Given the description of an element on the screen output the (x, y) to click on. 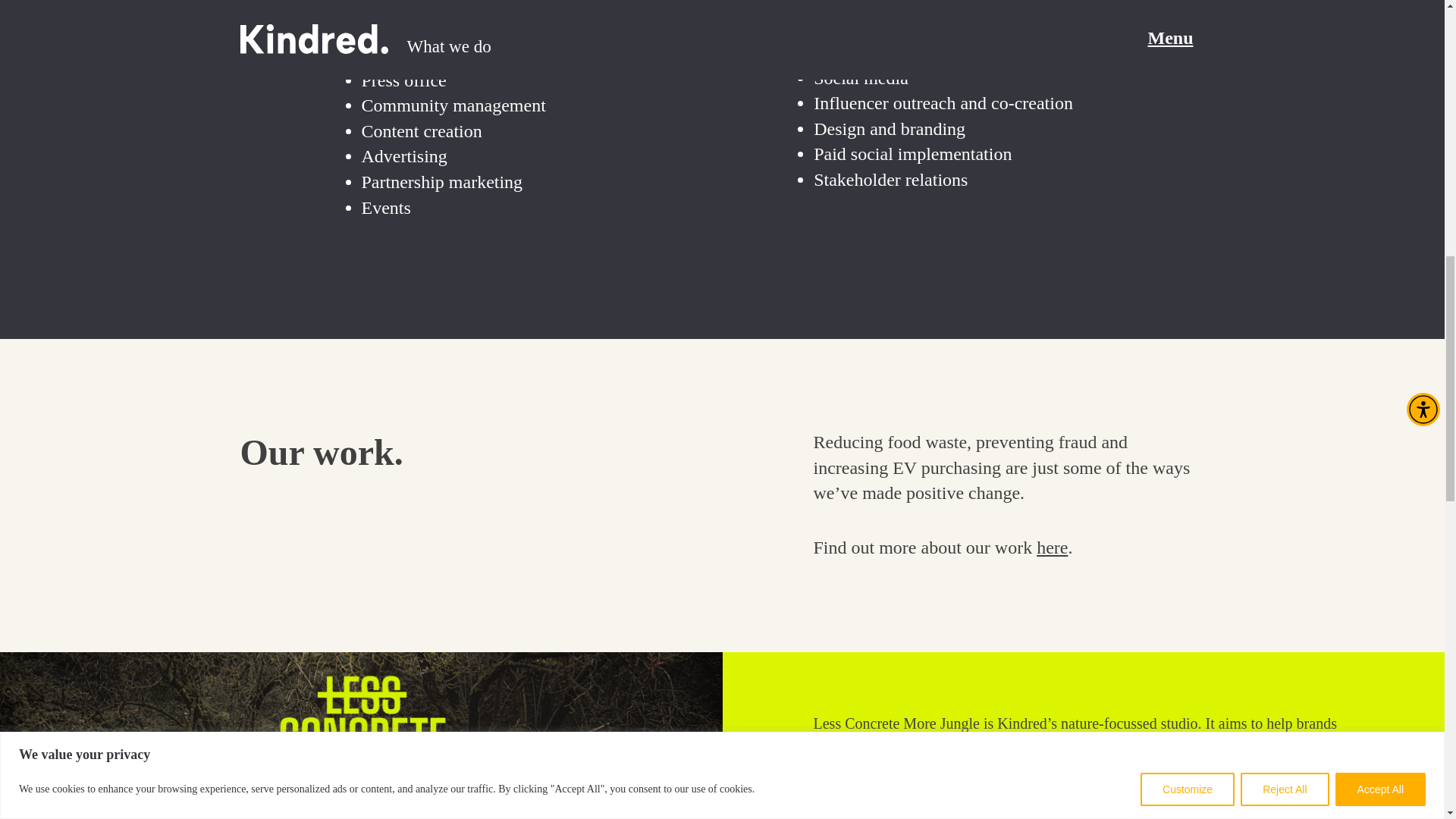
this article (880, 789)
here (1051, 547)
